Given the description of an element on the screen output the (x, y) to click on. 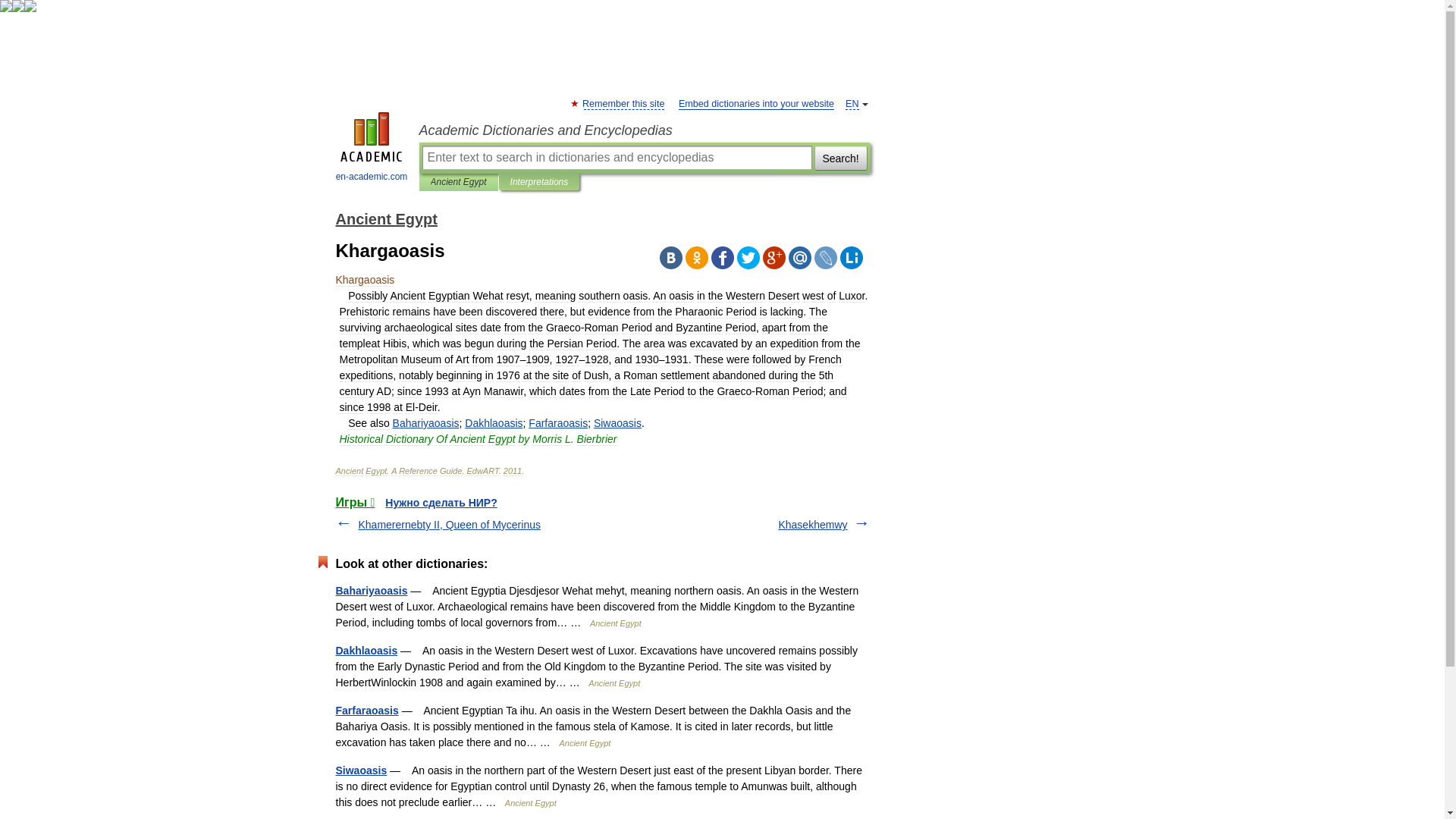
Khasekhemwy (812, 524)
Bahariyaoasis (370, 590)
Khamerernebty II, Queen of Mycerinus (449, 524)
Siwaoasis (618, 422)
Siwaoasis (360, 770)
Academic Dictionaries and Encyclopedias (644, 130)
Khasekhemwy (812, 524)
en-academic.com (371, 148)
Search! (840, 157)
Enter text to search in dictionaries and encyclopedias (616, 157)
